Given the description of an element on the screen output the (x, y) to click on. 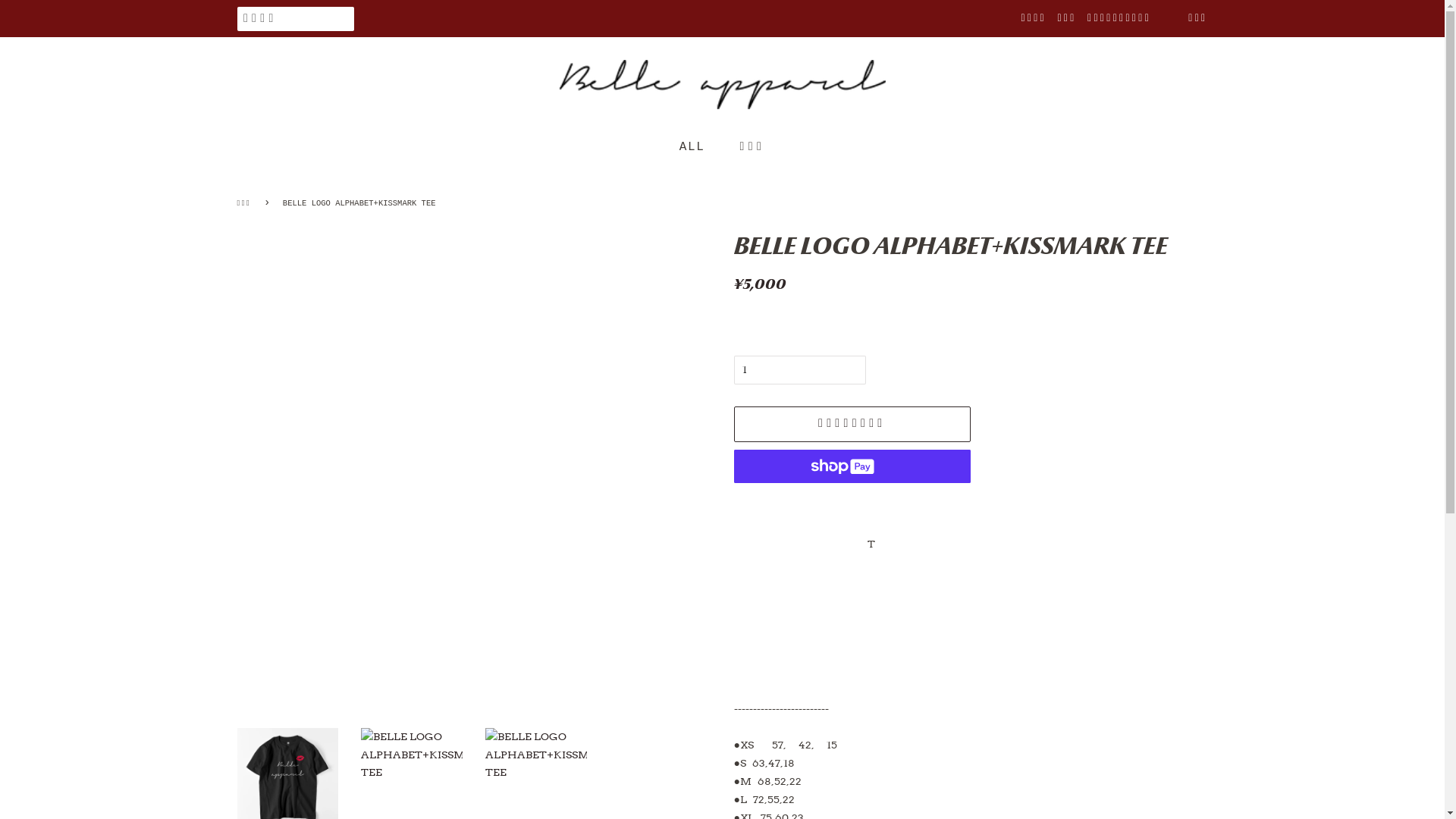
ALL Element type: text (699, 147)
